Given the description of an element on the screen output the (x, y) to click on. 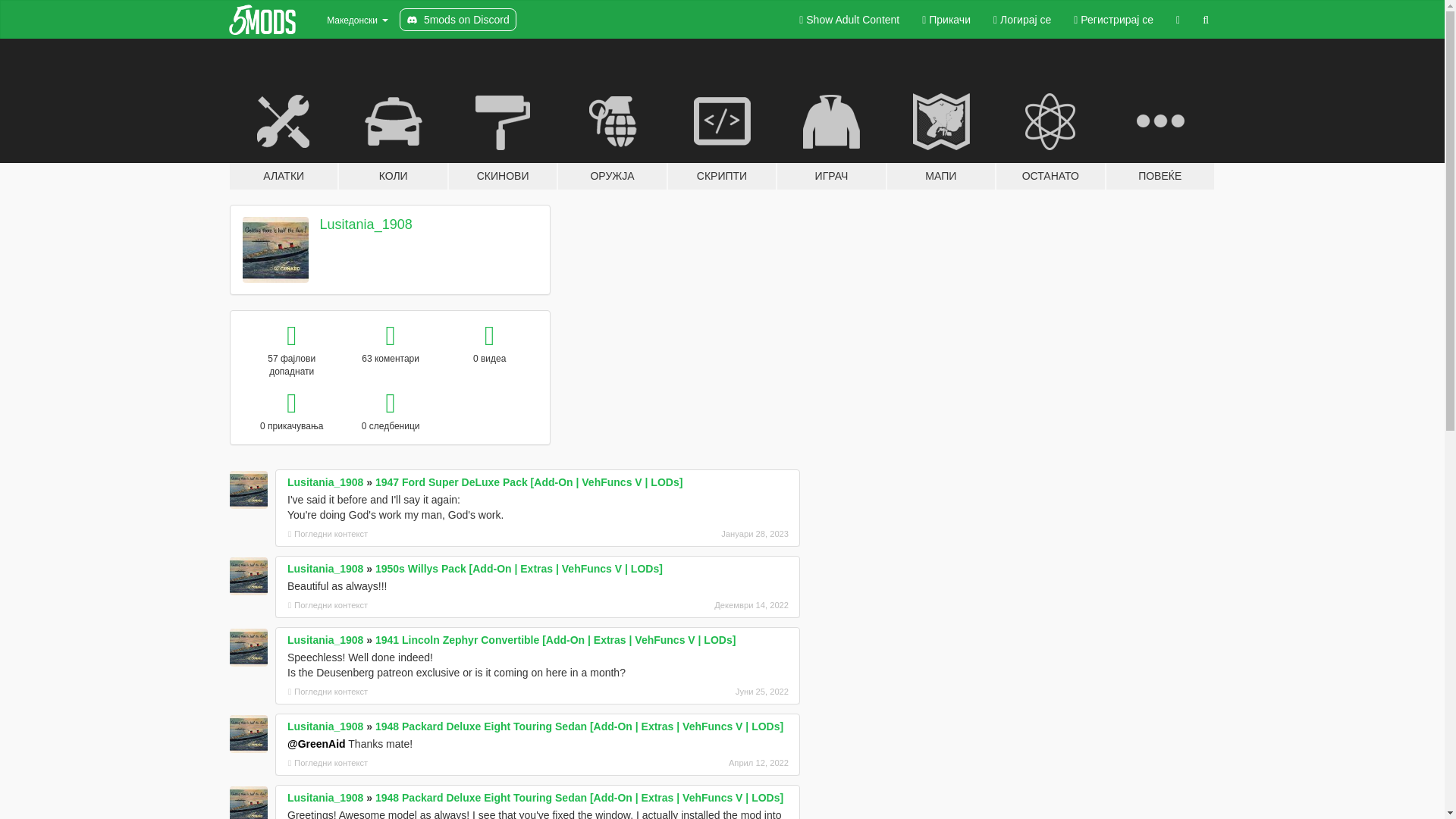
Show Adult Content (849, 19)
5mods on Discord (457, 19)
Light mode (849, 19)
